Given the description of an element on the screen output the (x, y) to click on. 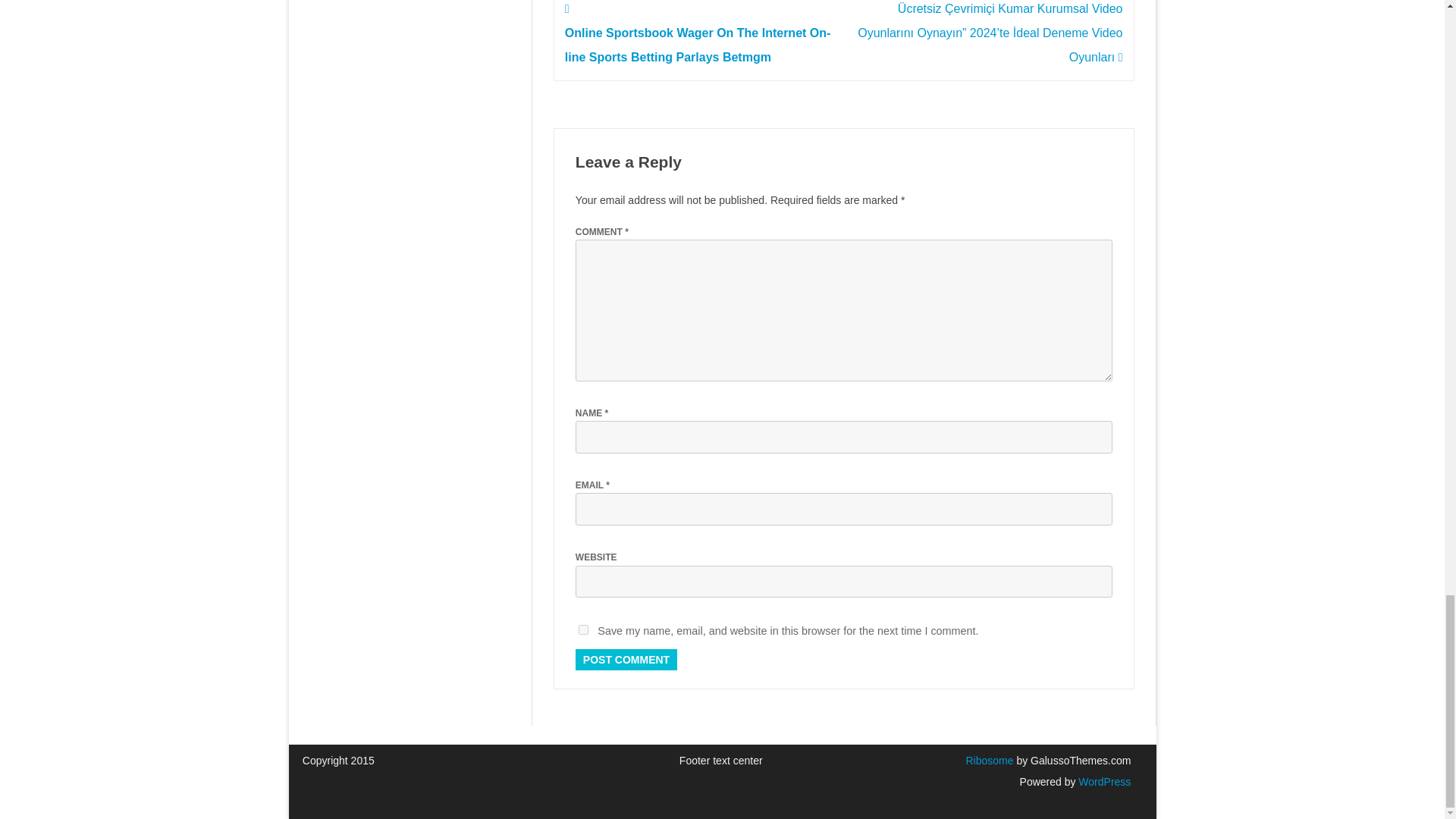
yes (583, 629)
Post Comment (626, 659)
